Given the description of an element on the screen output the (x, y) to click on. 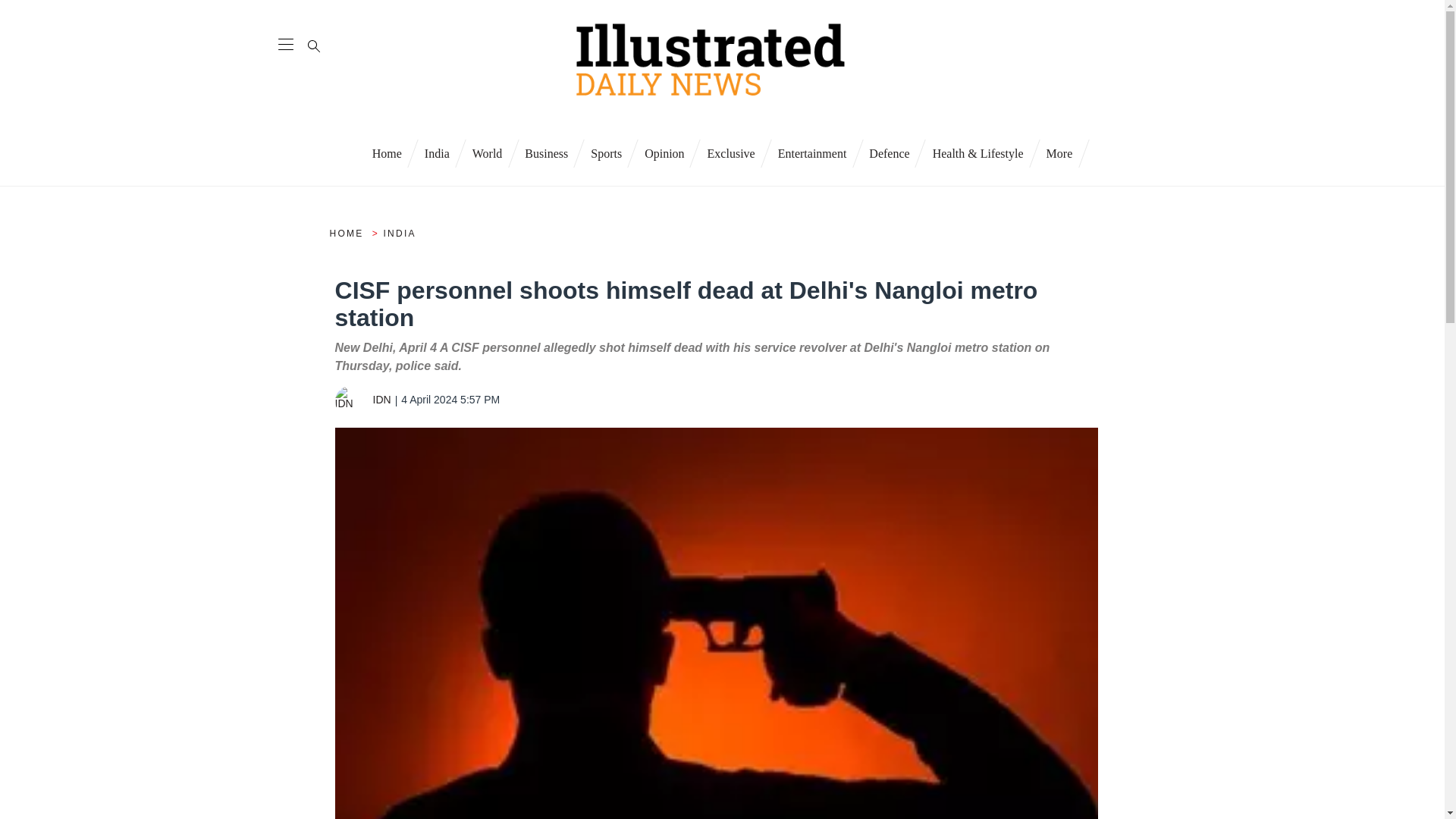
INDIA (400, 233)
More (1059, 152)
India (437, 152)
Exclusive (731, 152)
IDN (364, 399)
Home (387, 152)
Defence (888, 152)
HOME (348, 233)
SKIP TO CONTENT (300, 5)
Entertainment (813, 152)
illustrated Daily News (710, 60)
Sports (606, 152)
IDN (349, 399)
World (487, 152)
